Given the description of an element on the screen output the (x, y) to click on. 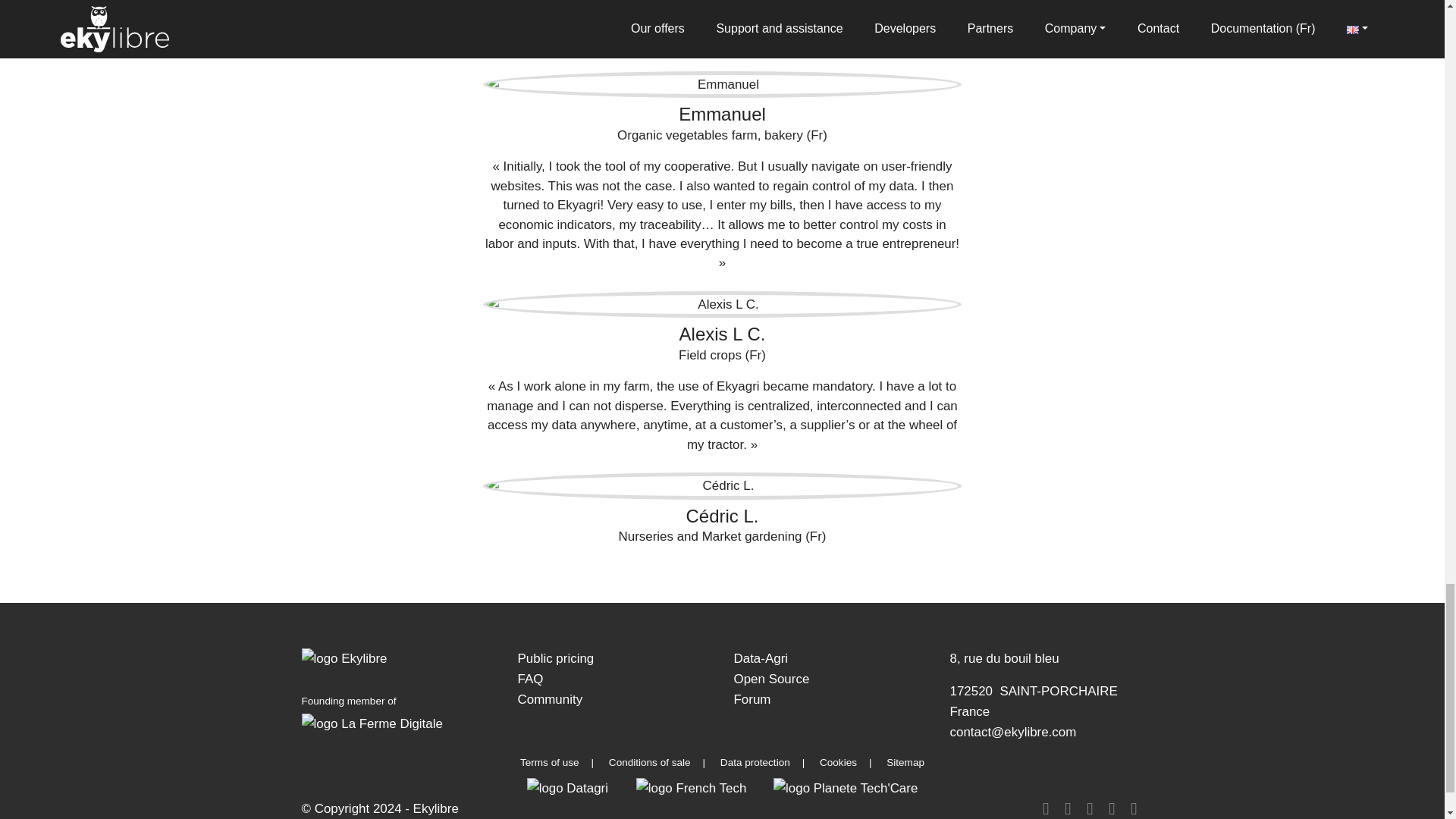
Cookies (838, 762)
Data-Agri (761, 658)
Open Source (771, 678)
Data protection (755, 762)
Conditions of sale (649, 762)
Terms of use (549, 762)
Forum (752, 699)
Community (549, 699)
FAQ (529, 678)
Public pricing (555, 658)
